Given the description of an element on the screen output the (x, y) to click on. 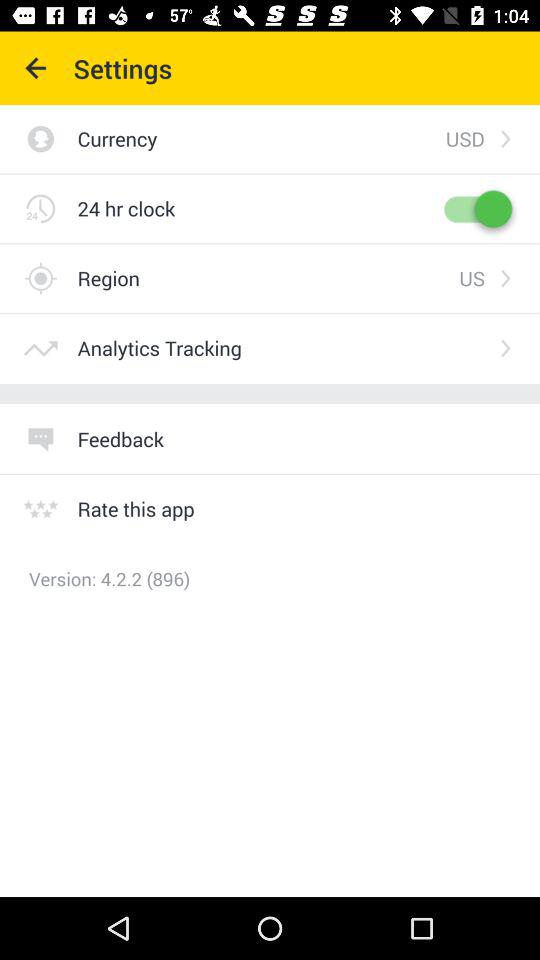
turn on the icon below currency item (126, 208)
